Given the description of an element on the screen output the (x, y) to click on. 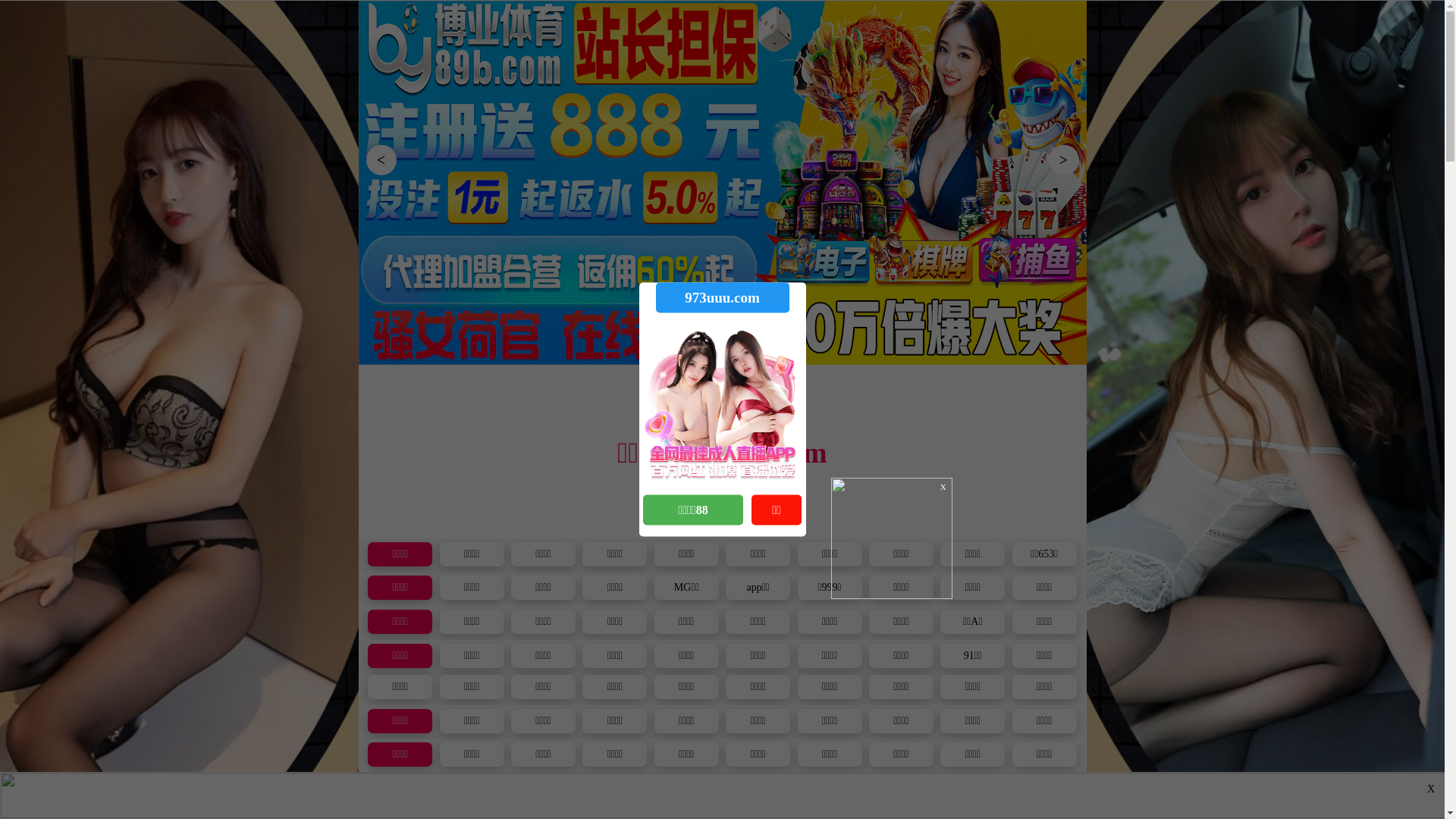
X Element type: text (1430, 789)
973uuu.com Element type: text (721, 297)
